Given the description of an element on the screen output the (x, y) to click on. 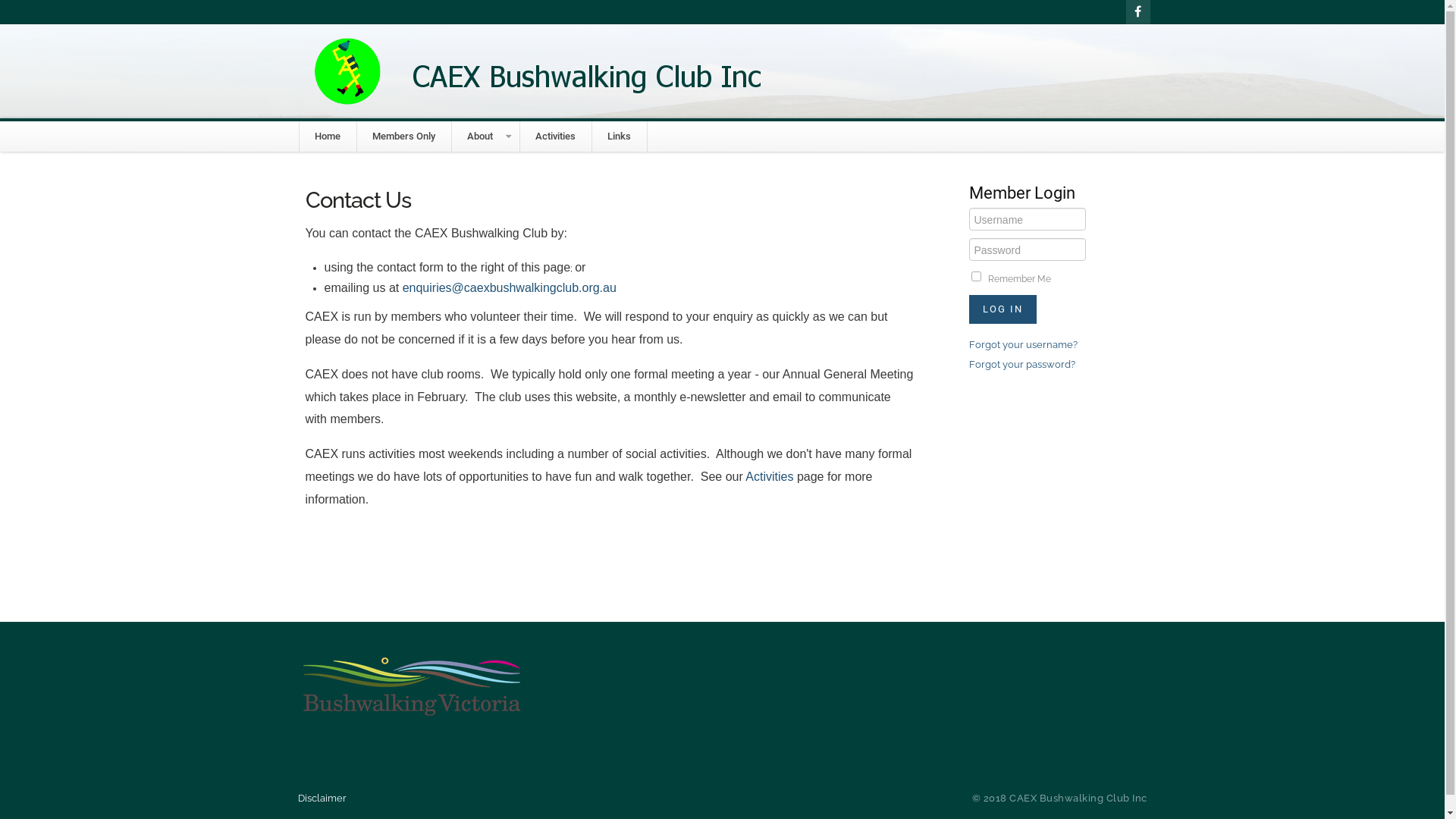
Forgot your password? Element type: text (1022, 364)
Forgot your username? Element type: text (1023, 344)
About Element type: text (479, 136)
Activities Element type: text (555, 136)
Disclaimer Element type: text (325, 797)
Links Element type: text (618, 136)
Home Element type: text (326, 136)
Activities Element type: text (769, 476)
enquiries@caexbushwalkingclub.org.au Element type: text (509, 287)
Facebook Element type: text (1137, 12)
LOG IN Element type: text (1002, 308)
Members Only Element type: text (402, 136)
